Given the description of an element on the screen output the (x, y) to click on. 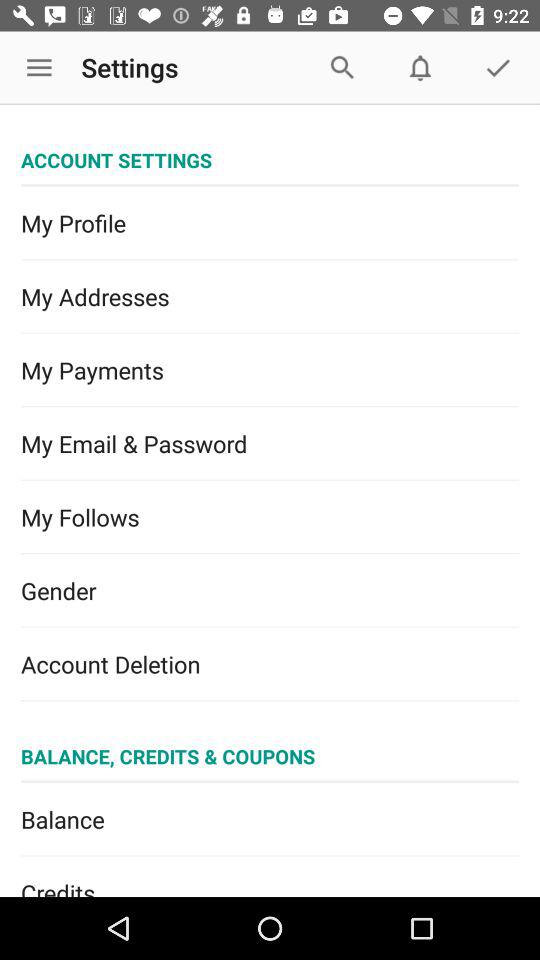
launch the icon to the left of settings app (39, 67)
